Given the description of an element on the screen output the (x, y) to click on. 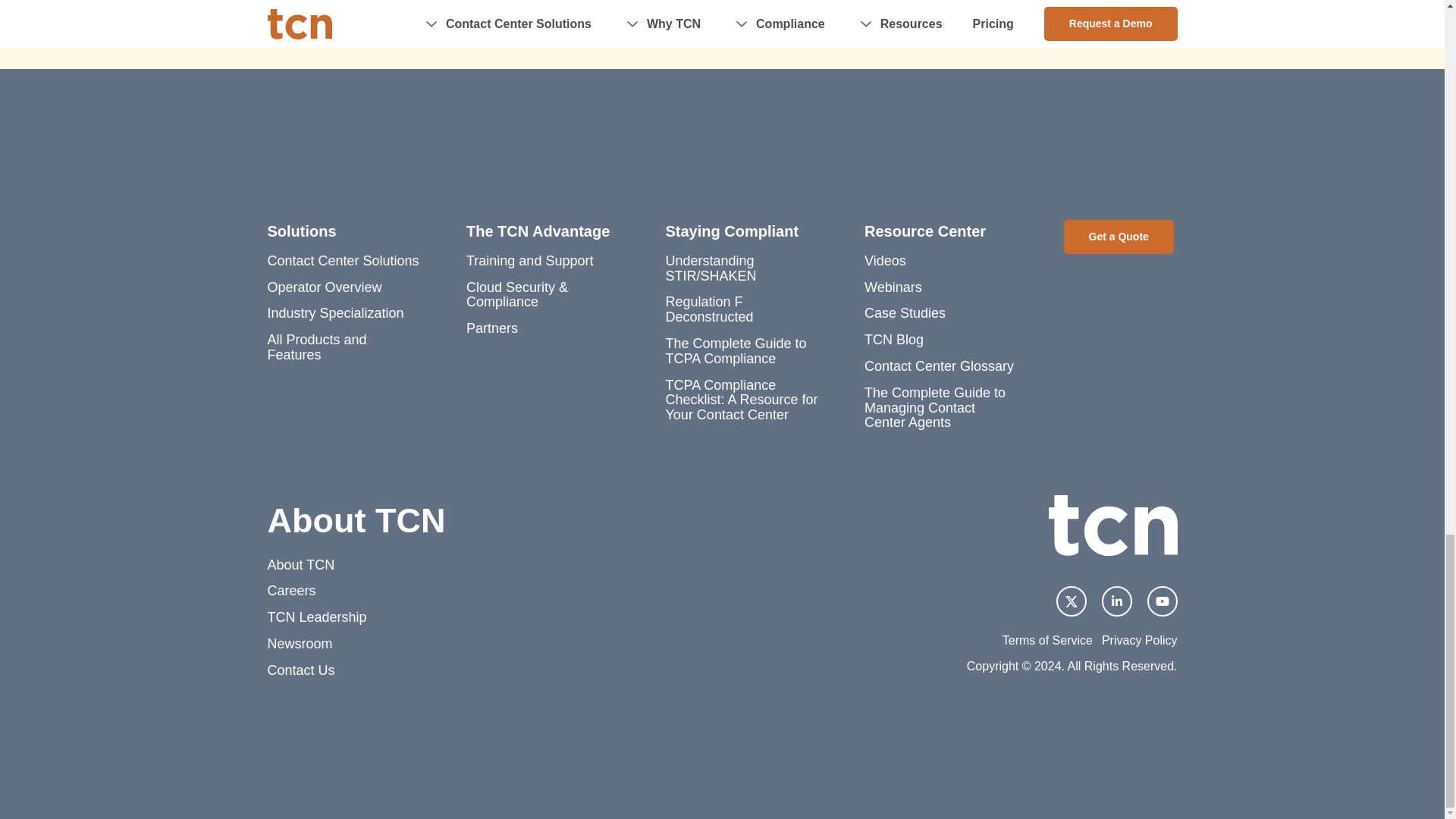
TCN (1112, 525)
